Given the description of an element on the screen output the (x, y) to click on. 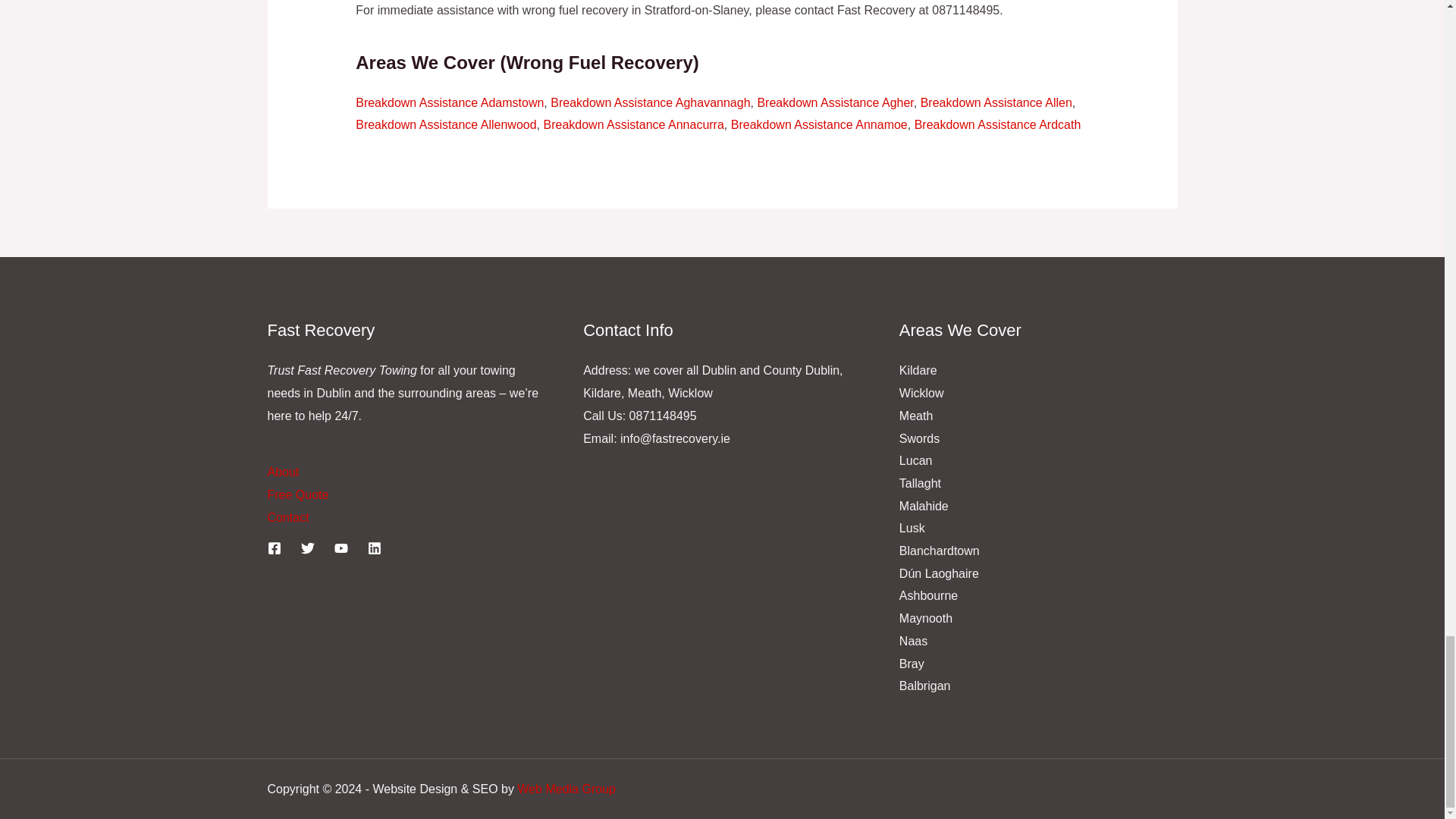
Breakdown Assistance Adamstown (449, 102)
Breakdown Assistance Annacurra (633, 124)
Breakdown Assistance Allen (995, 102)
Breakdown Assistance Annamoe (818, 124)
Breakdown Assistance Ardcath (997, 124)
Breakdown Assistance Agher (834, 102)
Breakdown Assistance Aghavannagh (649, 102)
Breakdown Assistance Allenwood (445, 124)
